Given the description of an element on the screen output the (x, y) to click on. 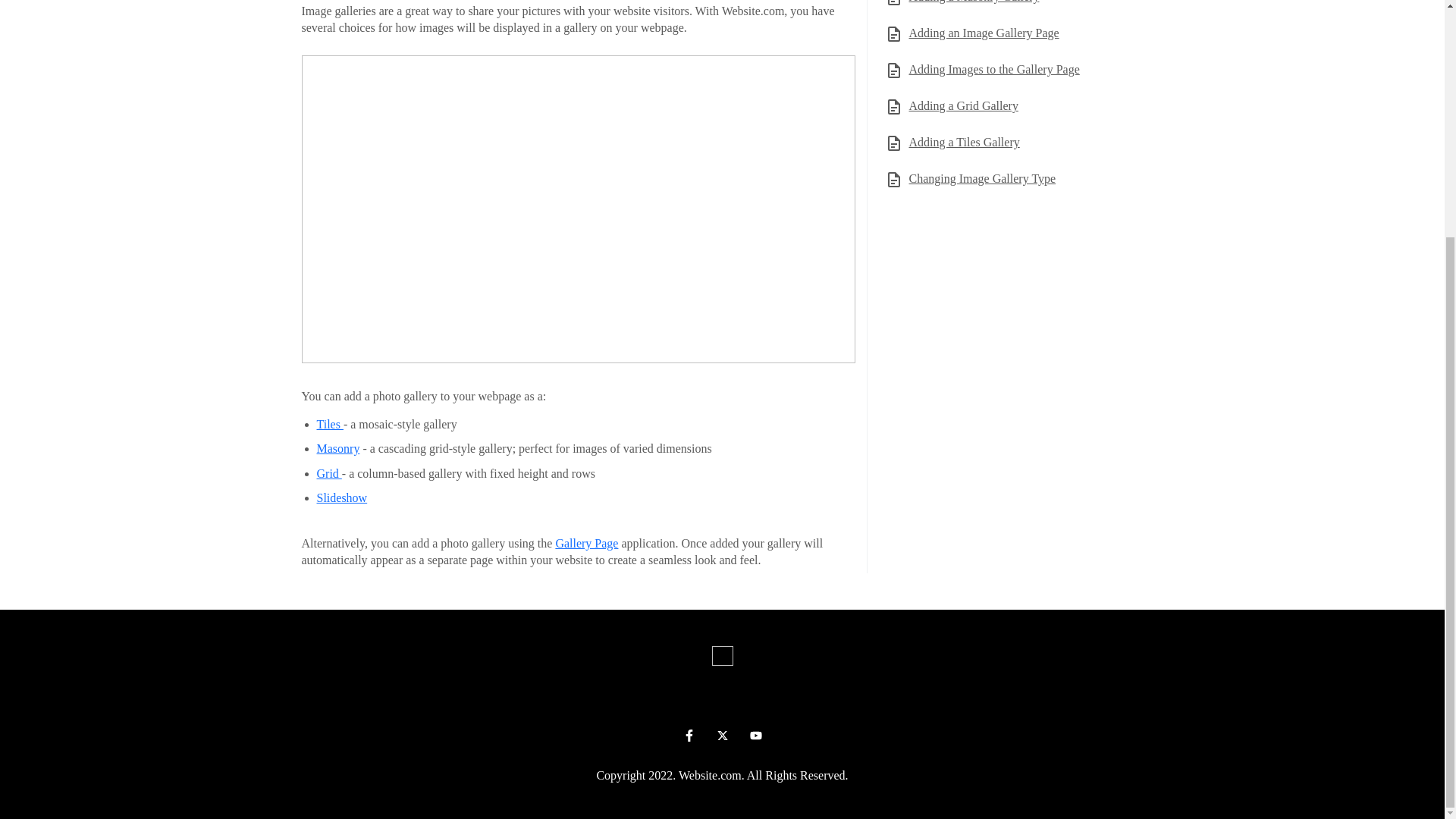
Masonry (338, 448)
Grid (329, 472)
Tiles (330, 423)
